Given the description of an element on the screen output the (x, y) to click on. 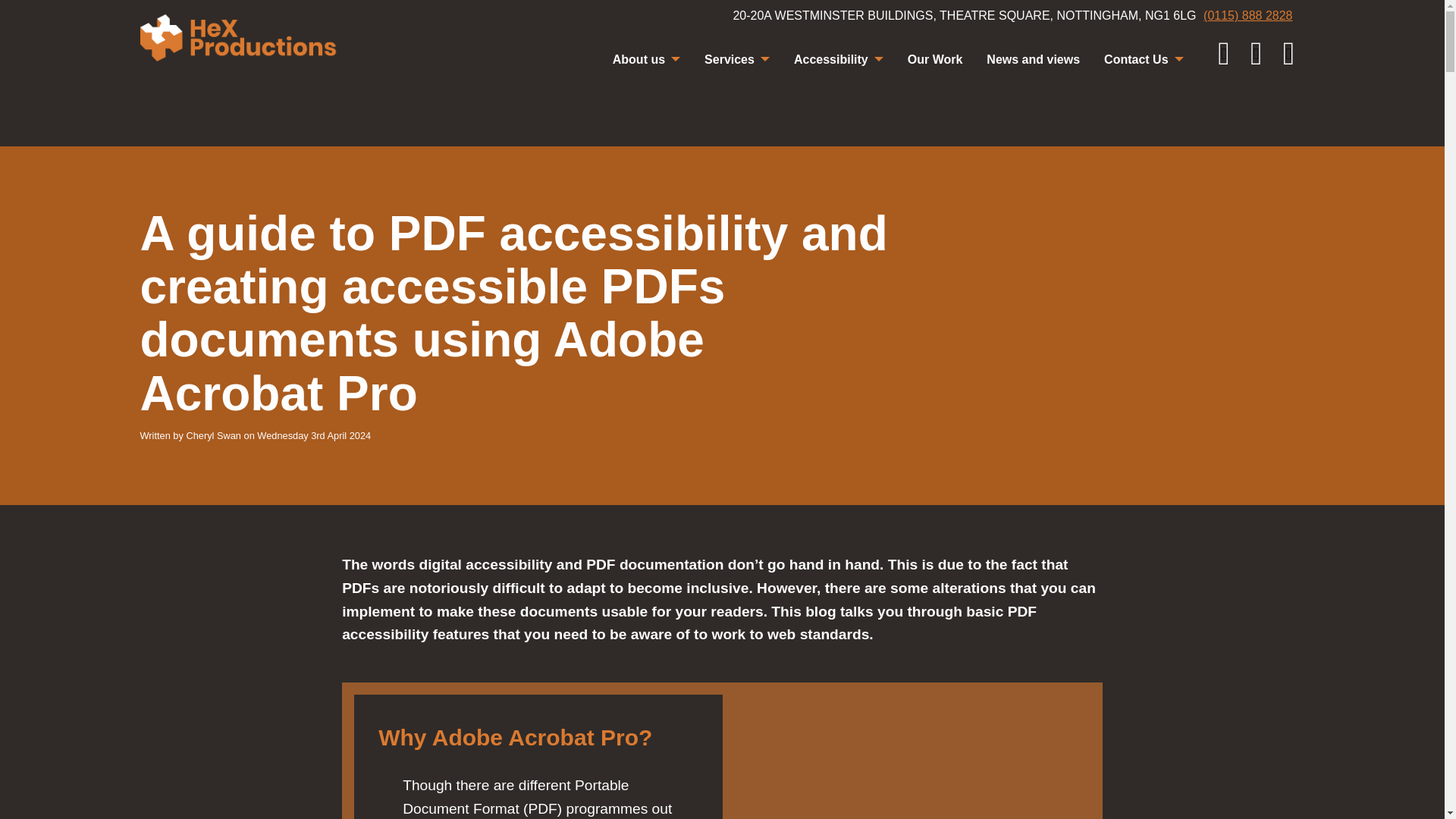
Services (737, 59)
About us (646, 59)
